Given the description of an element on the screen output the (x, y) to click on. 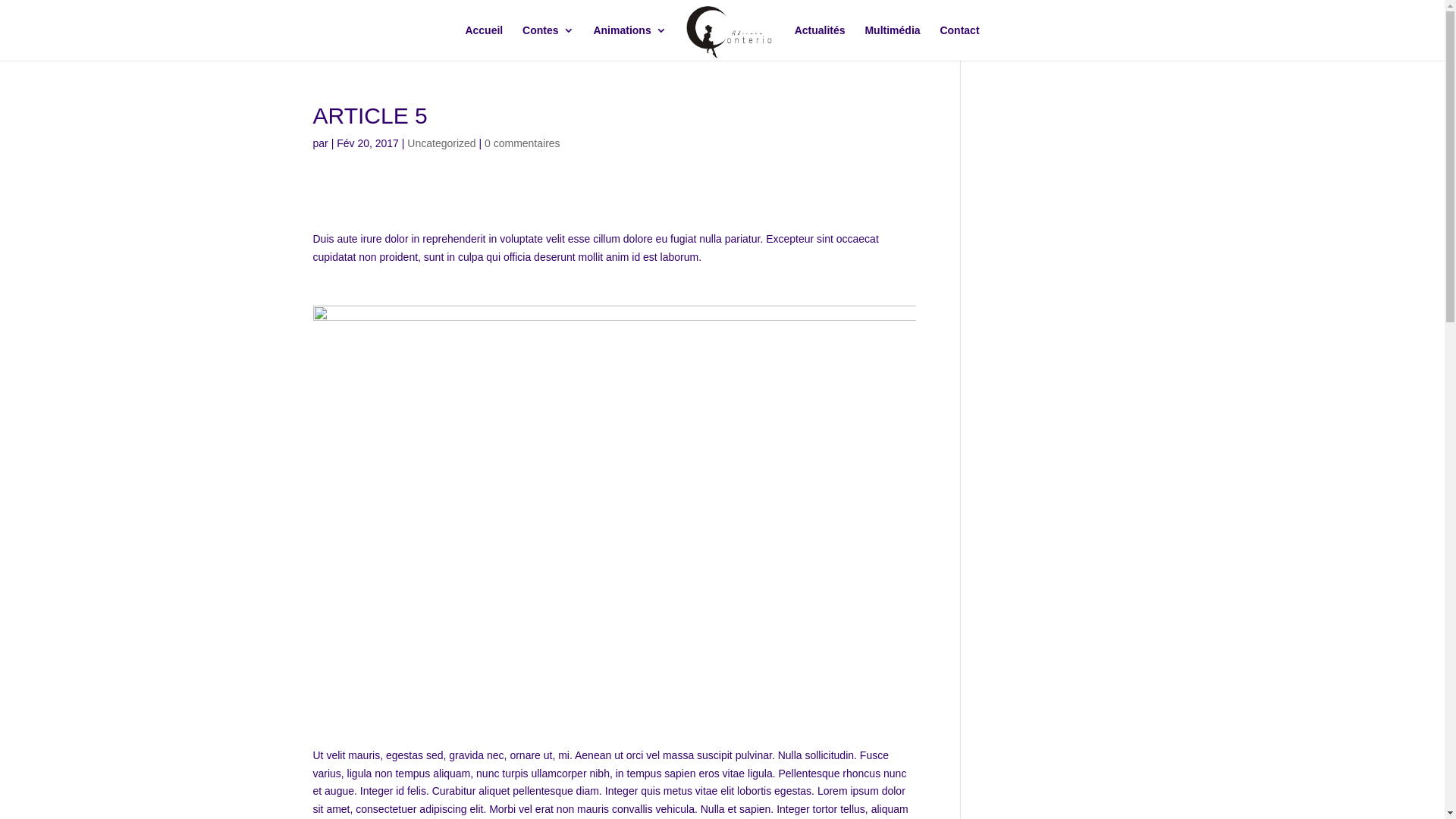
Contes Element type: text (547, 42)
Animations Element type: text (629, 42)
Uncategorized Element type: text (441, 143)
0 commentaires Element type: text (522, 143)
Contact Element type: text (959, 42)
Accueil Element type: text (483, 42)
